Given the description of an element on the screen output the (x, y) to click on. 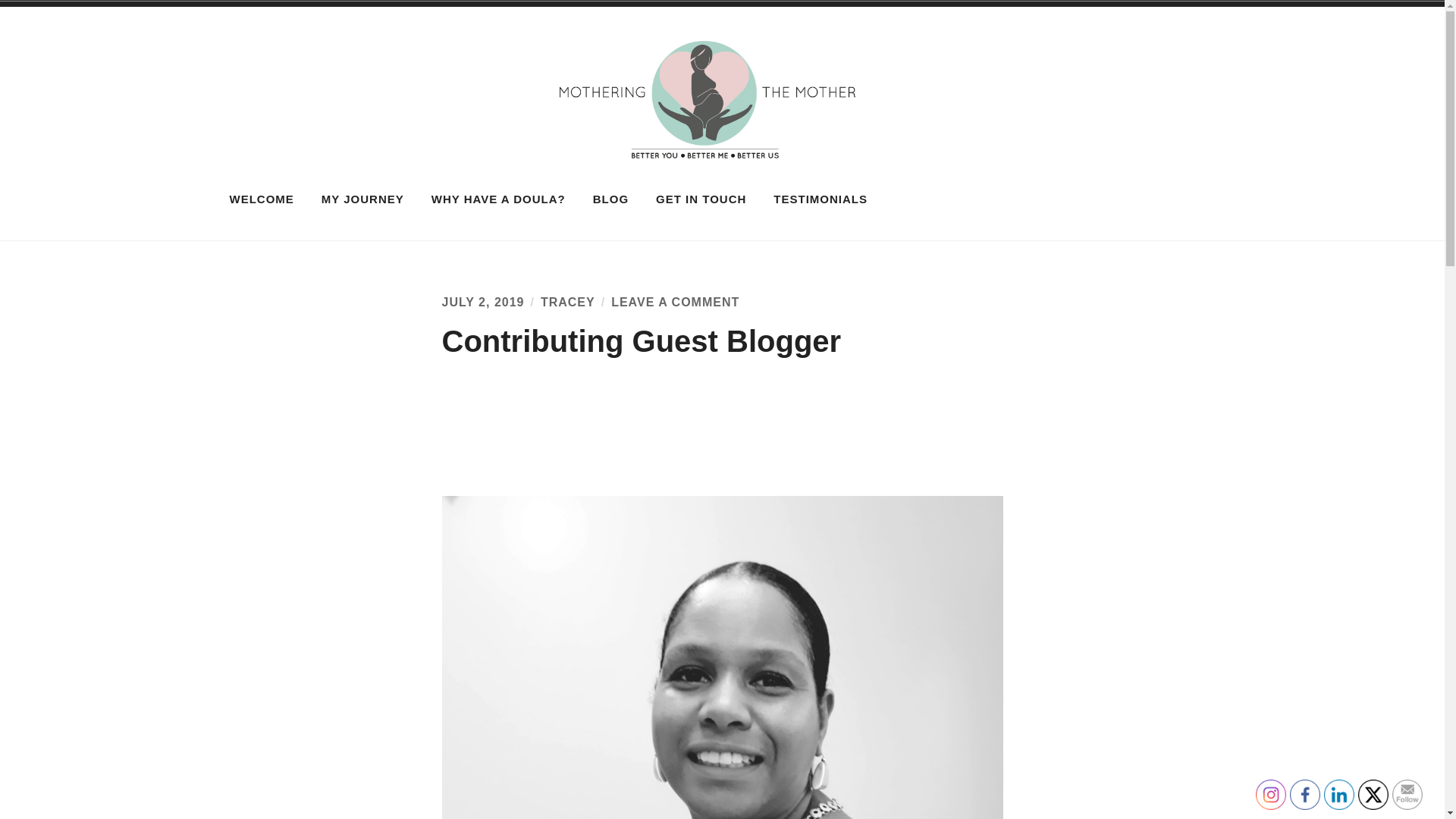
WHY HAVE A DOULA? (498, 198)
WELCOME (675, 301)
Instagram (261, 198)
Mothering the Mother (1270, 794)
BLOG (1035, 145)
MY JOURNEY (610, 198)
TRACEY (362, 198)
GET IN TOUCH (567, 301)
TESTIMONIALS (701, 198)
